Given the description of an element on the screen output the (x, y) to click on. 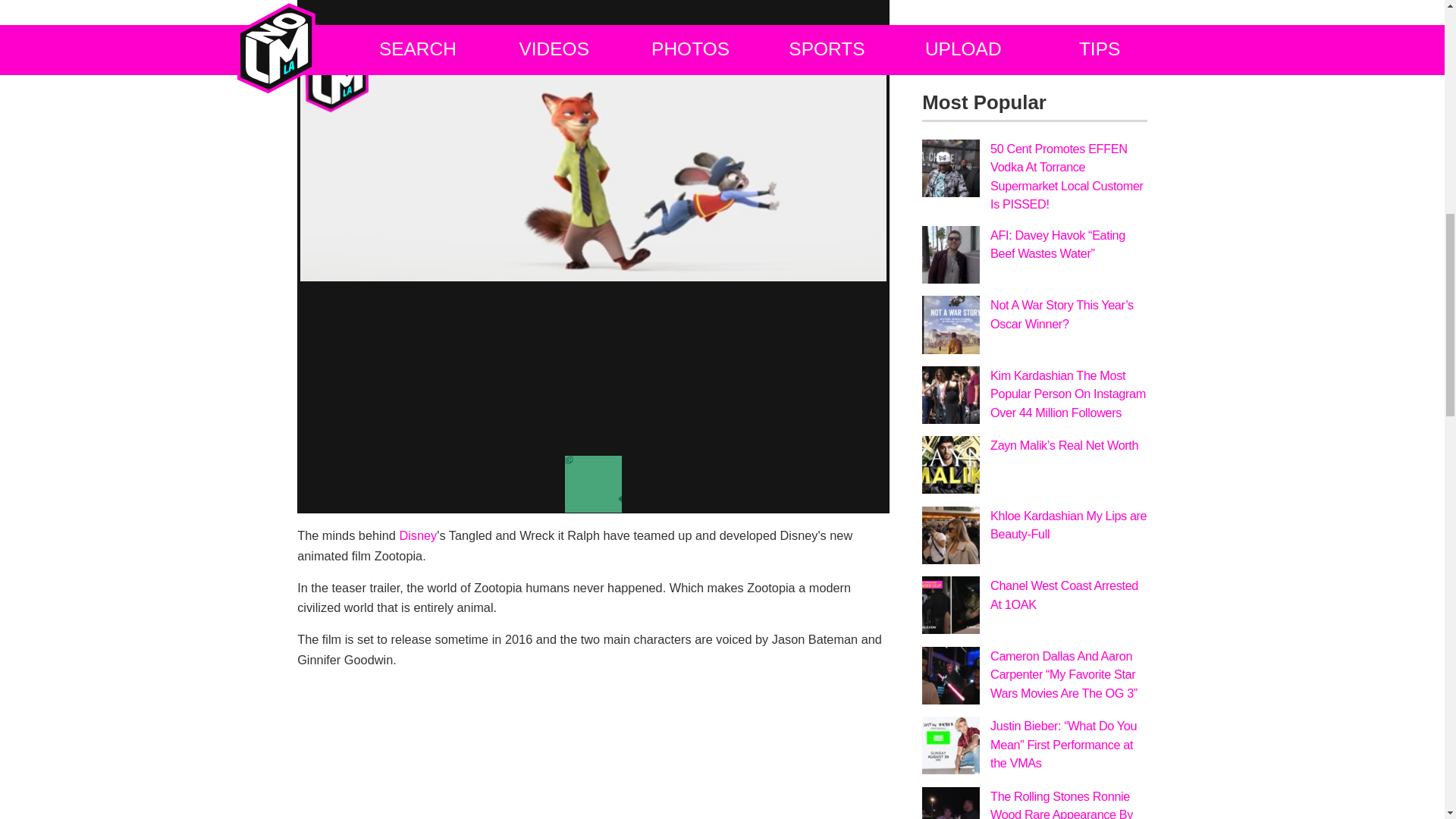
Disney (417, 535)
Disney (417, 535)
Advertisement (1035, 37)
